Given the description of an element on the screen output the (x, y) to click on. 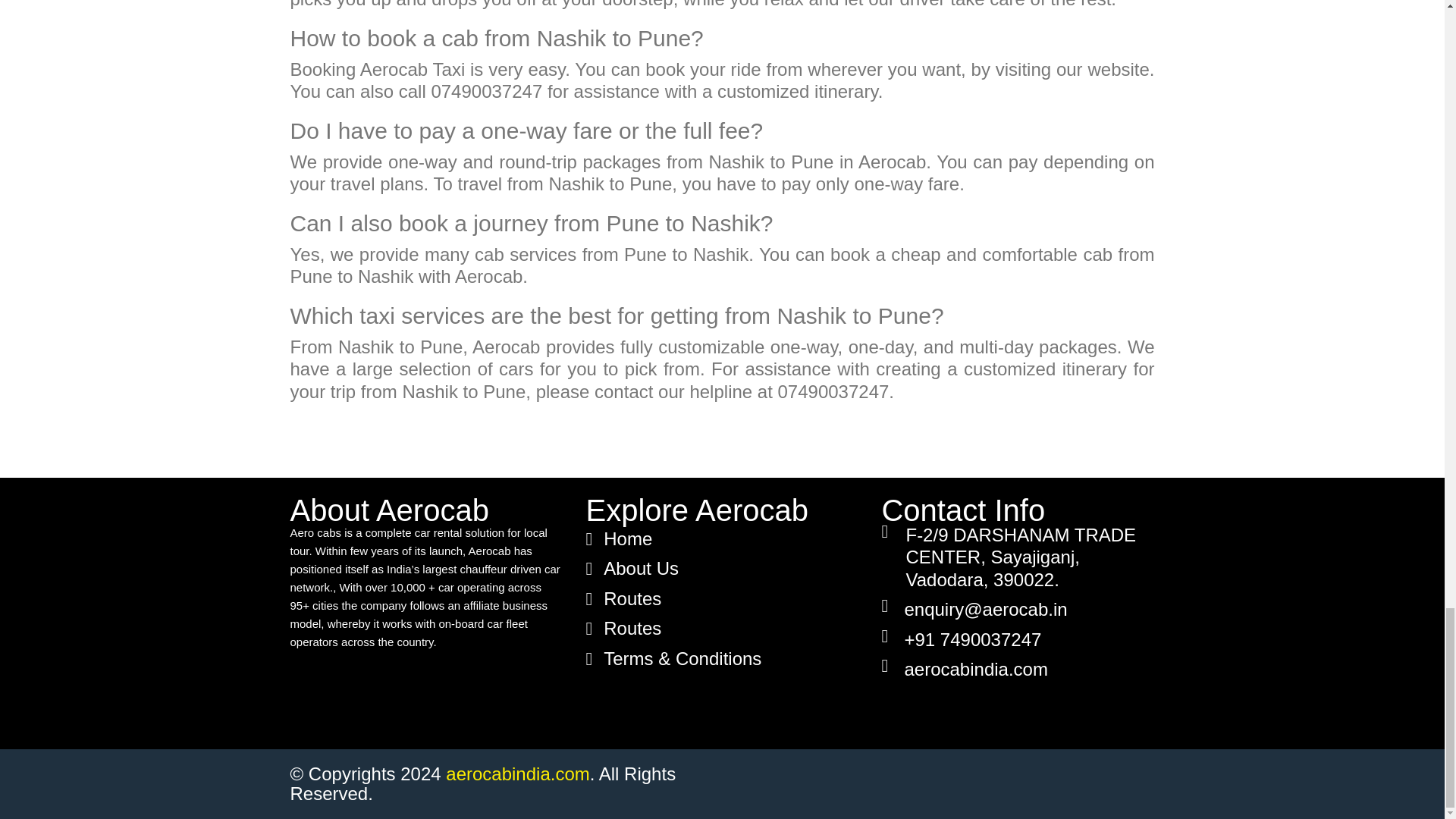
aerocabindia.com (517, 773)
Routes (626, 598)
Routes (626, 627)
Home (622, 538)
aerocabindia.com (975, 669)
About Us (635, 568)
